Given the description of an element on the screen output the (x, y) to click on. 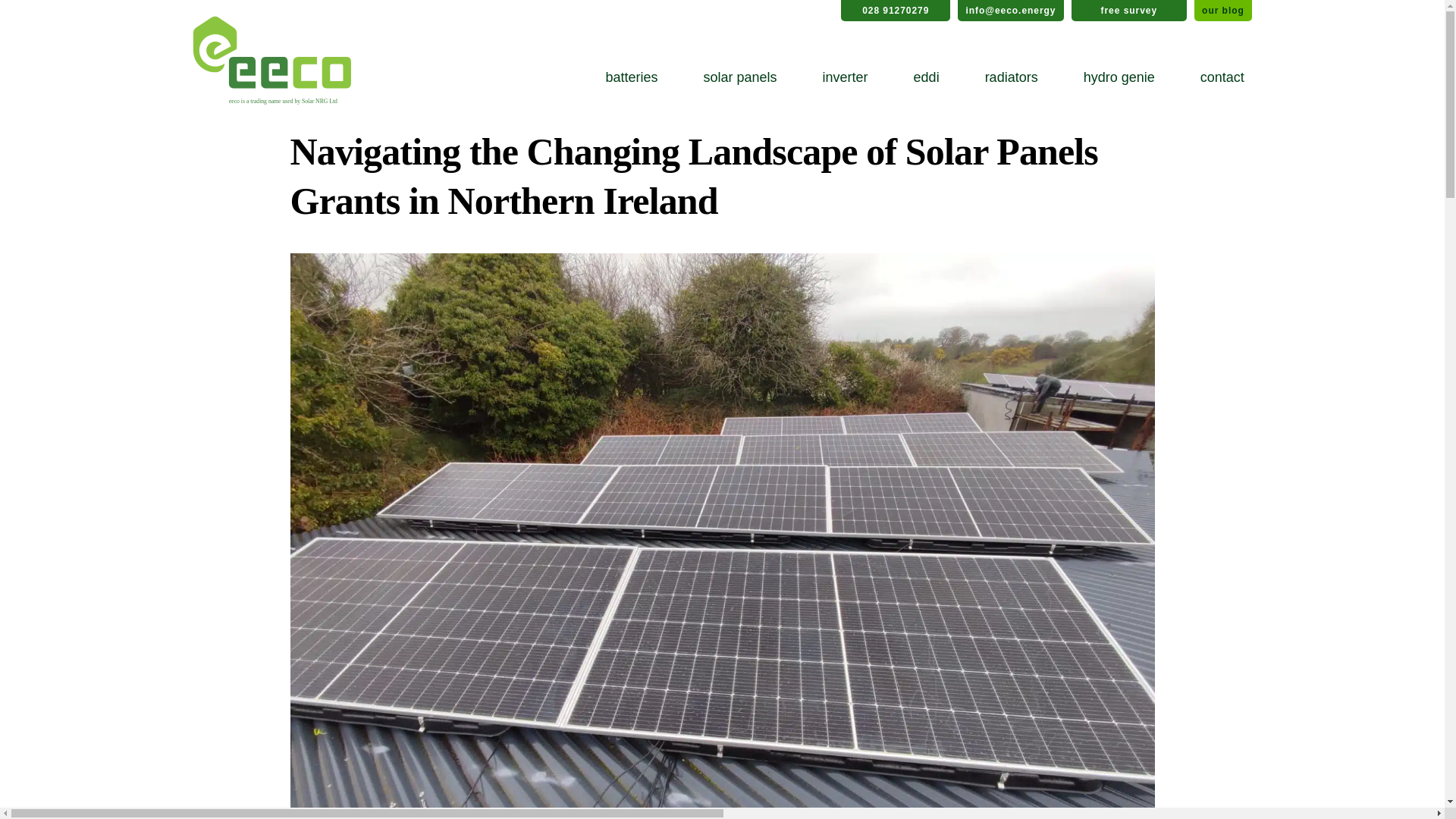
contact (1222, 76)
EECO-web-logo (271, 60)
solar panels (739, 76)
hydro genie (1118, 76)
batteries (630, 76)
our blog (1222, 10)
free survey (1128, 10)
028 91270279 (895, 10)
inverter (845, 76)
radiators (1010, 76)
